Given the description of an element on the screen output the (x, y) to click on. 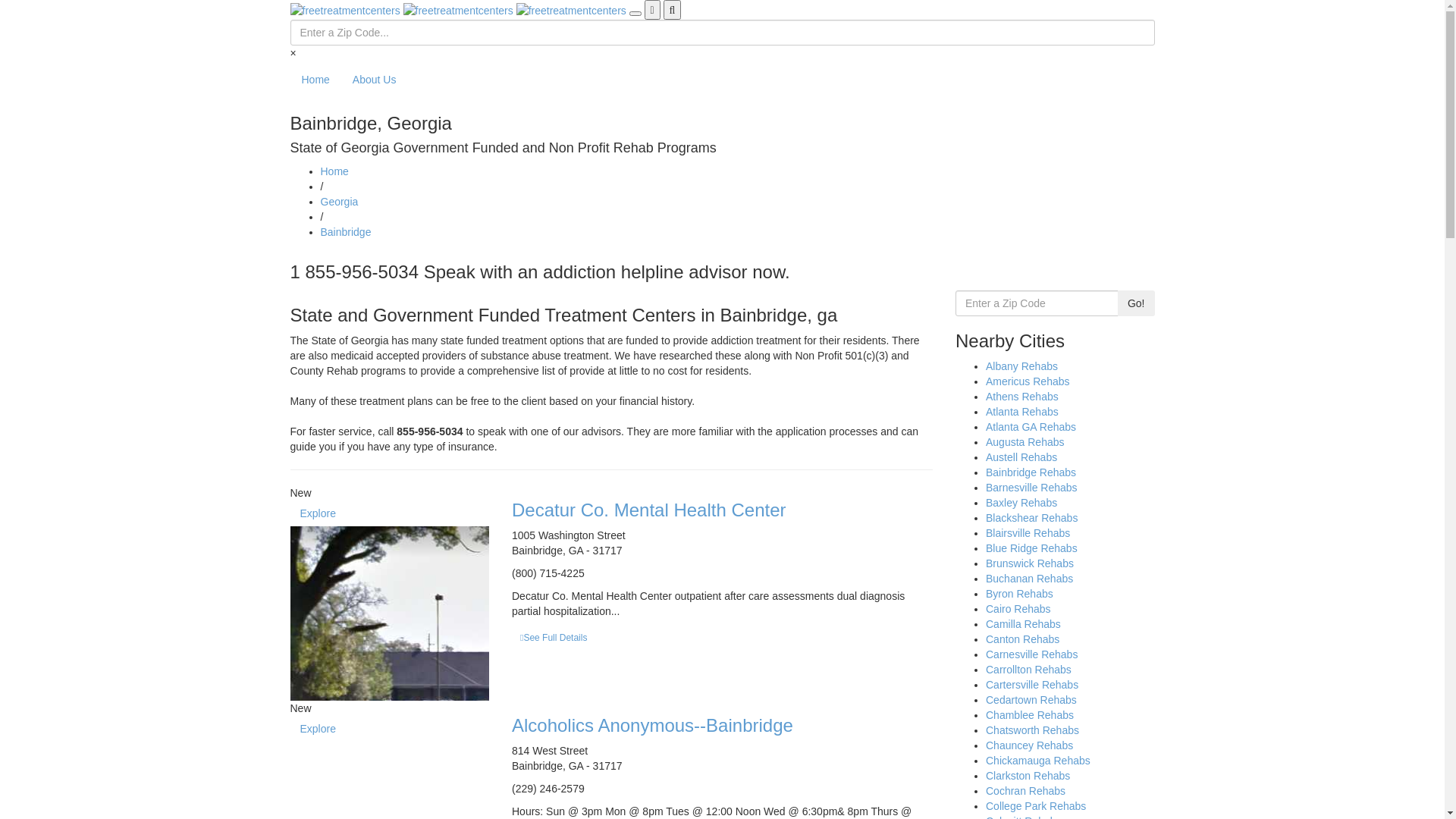
Blue Ridge Rehabs Element type: text (1031, 548)
Home Element type: text (334, 171)
Americus Rehabs Element type: text (1027, 381)
Chatsworth Rehabs Element type: text (1032, 730)
Alcoholics Anonymous--Bainbridge Element type: text (652, 725)
Cochran Rehabs Element type: text (1025, 790)
Chauncey Rehabs Element type: text (1029, 745)
Clarkston Rehabs Element type: text (1027, 775)
Byron Rehabs Element type: text (1019, 593)
Cairo Rehabs Element type: text (1018, 608)
Georgia Element type: text (338, 201)
Canton Rehabs Element type: text (1022, 639)
Chickamauga Rehabs Element type: text (1037, 760)
Go! Element type: text (1135, 303)
Barnesville Rehabs Element type: text (1031, 487)
Buchanan Rehabs Element type: text (1029, 578)
About Us Element type: text (374, 79)
Chamblee Rehabs Element type: text (1029, 715)
Athens Rehabs Element type: text (1021, 396)
Cartersville Rehabs Element type: text (1031, 684)
Atlanta Rehabs Element type: text (1021, 411)
Bainbridge Rehabs Element type: text (1030, 472)
Bainbridge Element type: text (345, 231)
Atlanta GA Rehabs Element type: text (1030, 426)
Decatur Co. Mental Health Center Element type: text (648, 509)
Brunswick Rehabs Element type: text (1029, 563)
Explore Element type: text (317, 513)
Augusta Rehabs Element type: text (1024, 442)
Explore Element type: text (317, 728)
Blackshear Rehabs Element type: text (1031, 517)
College Park Rehabs Element type: text (1035, 806)
See Full Details Element type: text (553, 637)
Carrollton Rehabs Element type: text (1028, 669)
Carnesville Rehabs Element type: text (1031, 654)
Home Element type: text (314, 79)
Austell Rehabs Element type: text (1021, 457)
Baxley Rehabs Element type: text (1021, 502)
Camilla Rehabs Element type: text (1022, 624)
Blairsville Rehabs Element type: text (1027, 533)
Albany Rehabs Element type: text (1021, 366)
Cedartown Rehabs Element type: text (1030, 699)
